Given the description of an element on the screen output the (x, y) to click on. 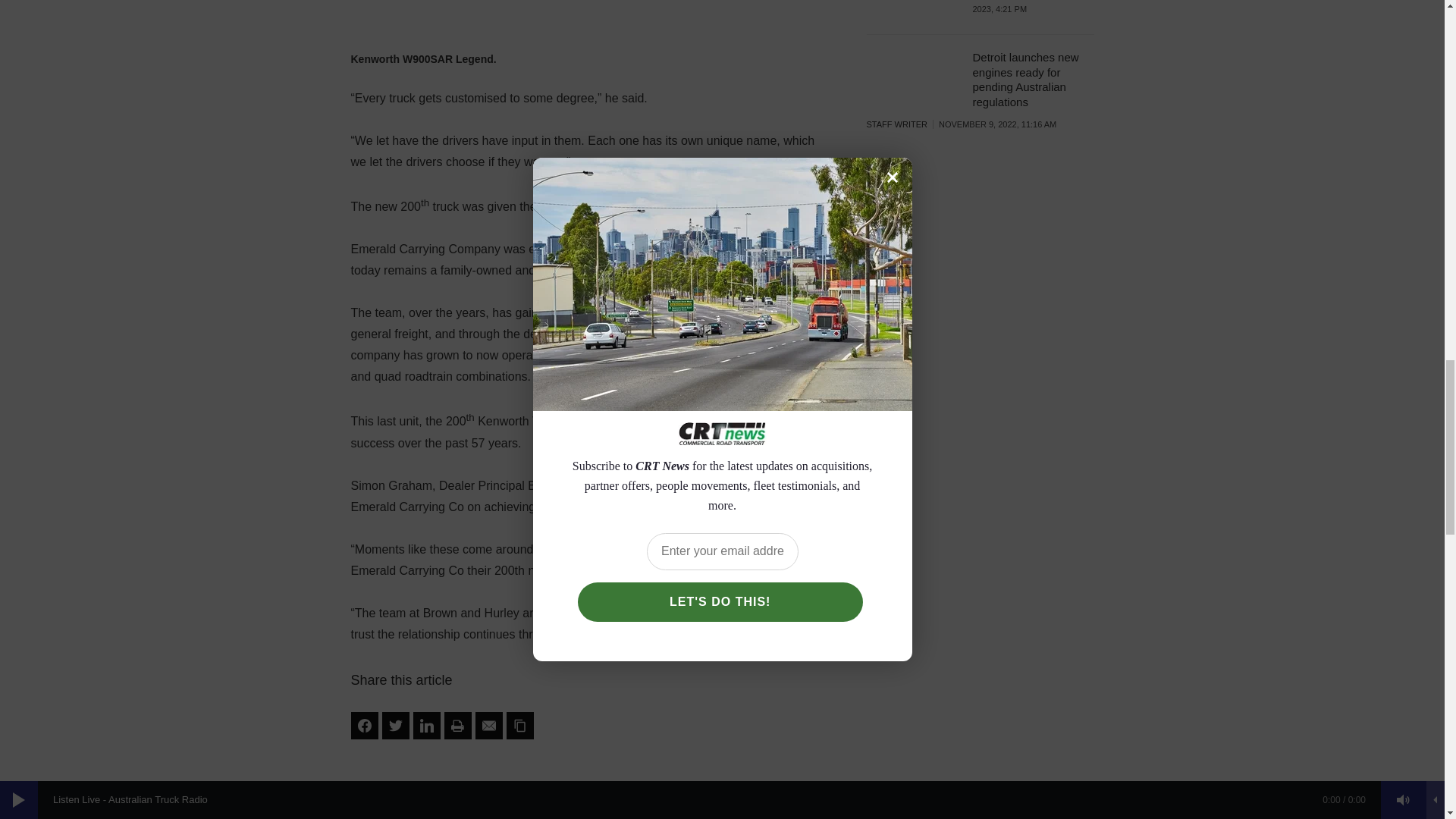
Share on Facebook (363, 725)
